Given the description of an element on the screen output the (x, y) to click on. 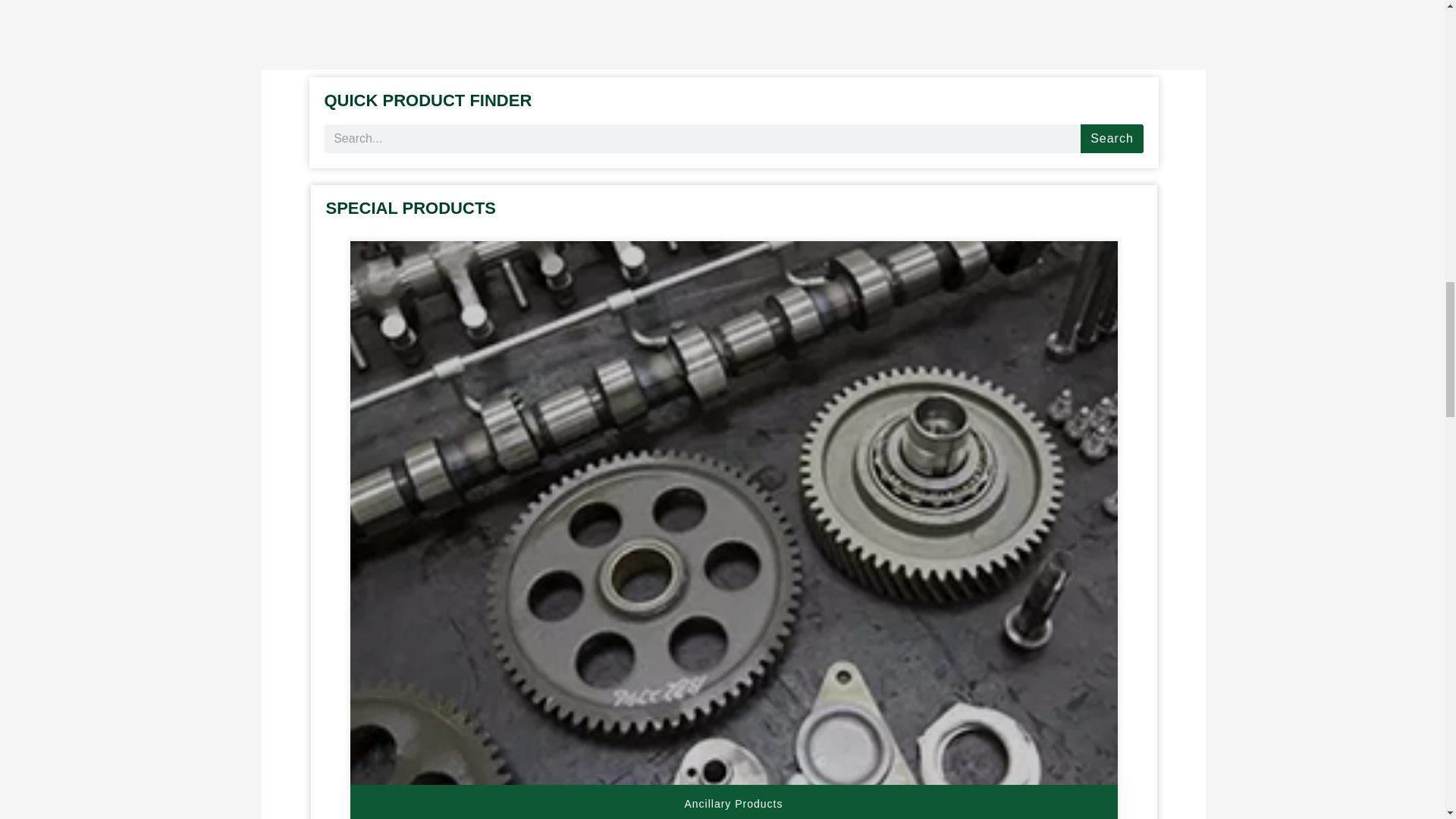
Search (1111, 138)
Ancillary Products (733, 801)
